Given the description of an element on the screen output the (x, y) to click on. 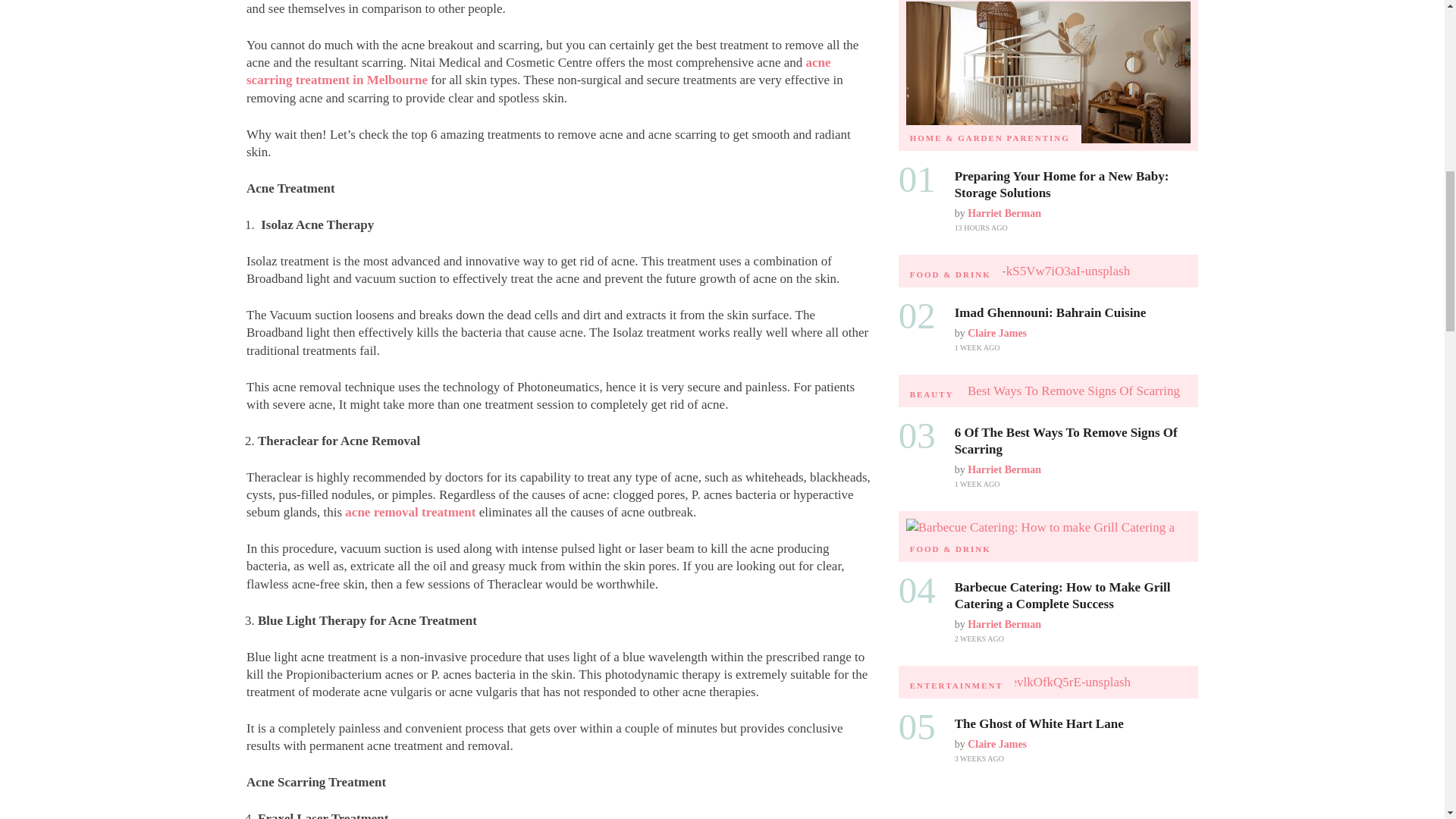
Posts by Claire James (997, 744)
acne scarring treatment in Melbourne (538, 70)
acne removal treatment (410, 512)
Posts by Harriet Berman (1004, 624)
Posts by Harriet Berman (1004, 469)
Posts by Claire James (997, 333)
Posts by Harriet Berman (1004, 213)
